Given the description of an element on the screen output the (x, y) to click on. 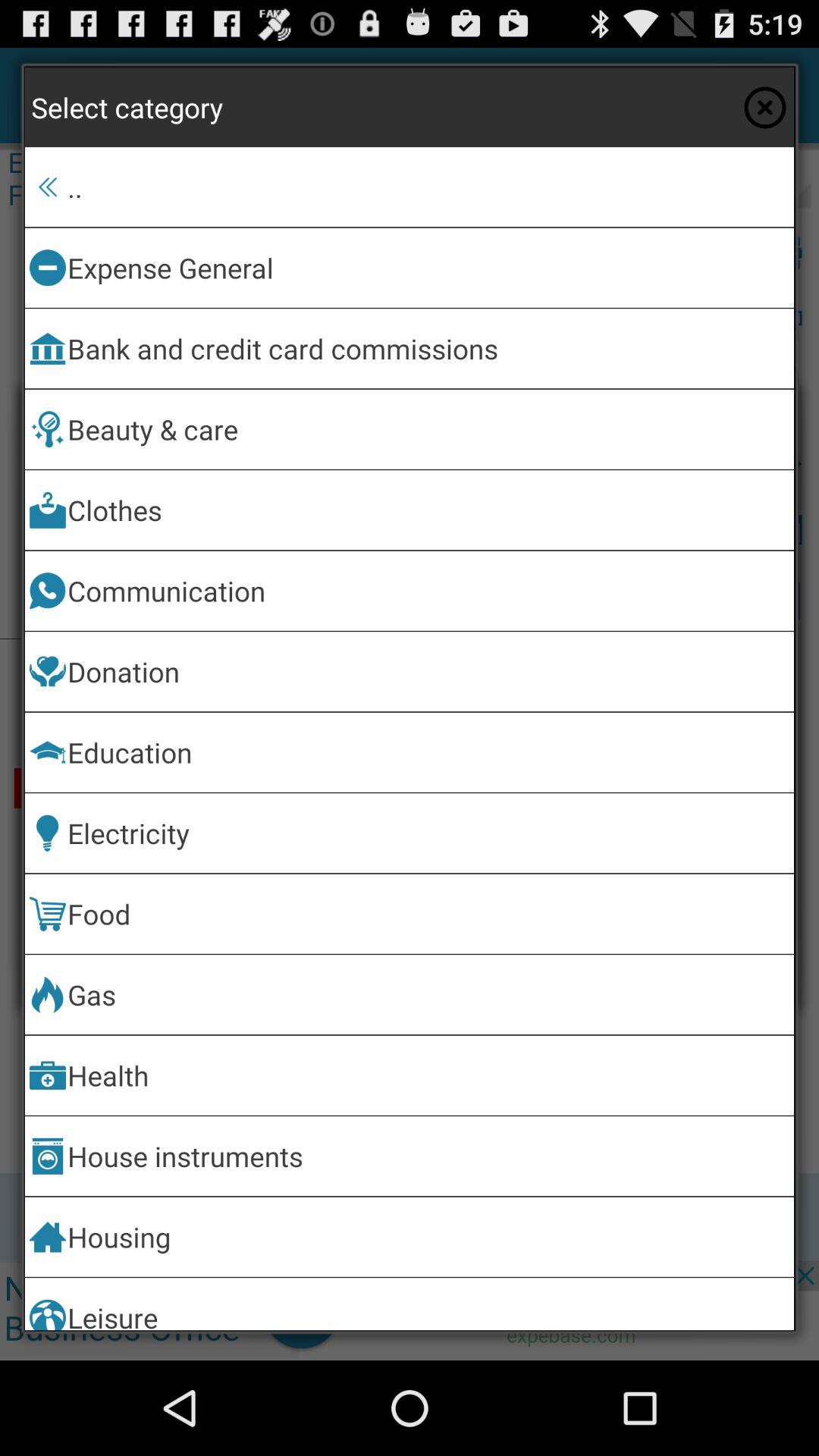
choose app above bank and credit (427, 267)
